Given the description of an element on the screen output the (x, y) to click on. 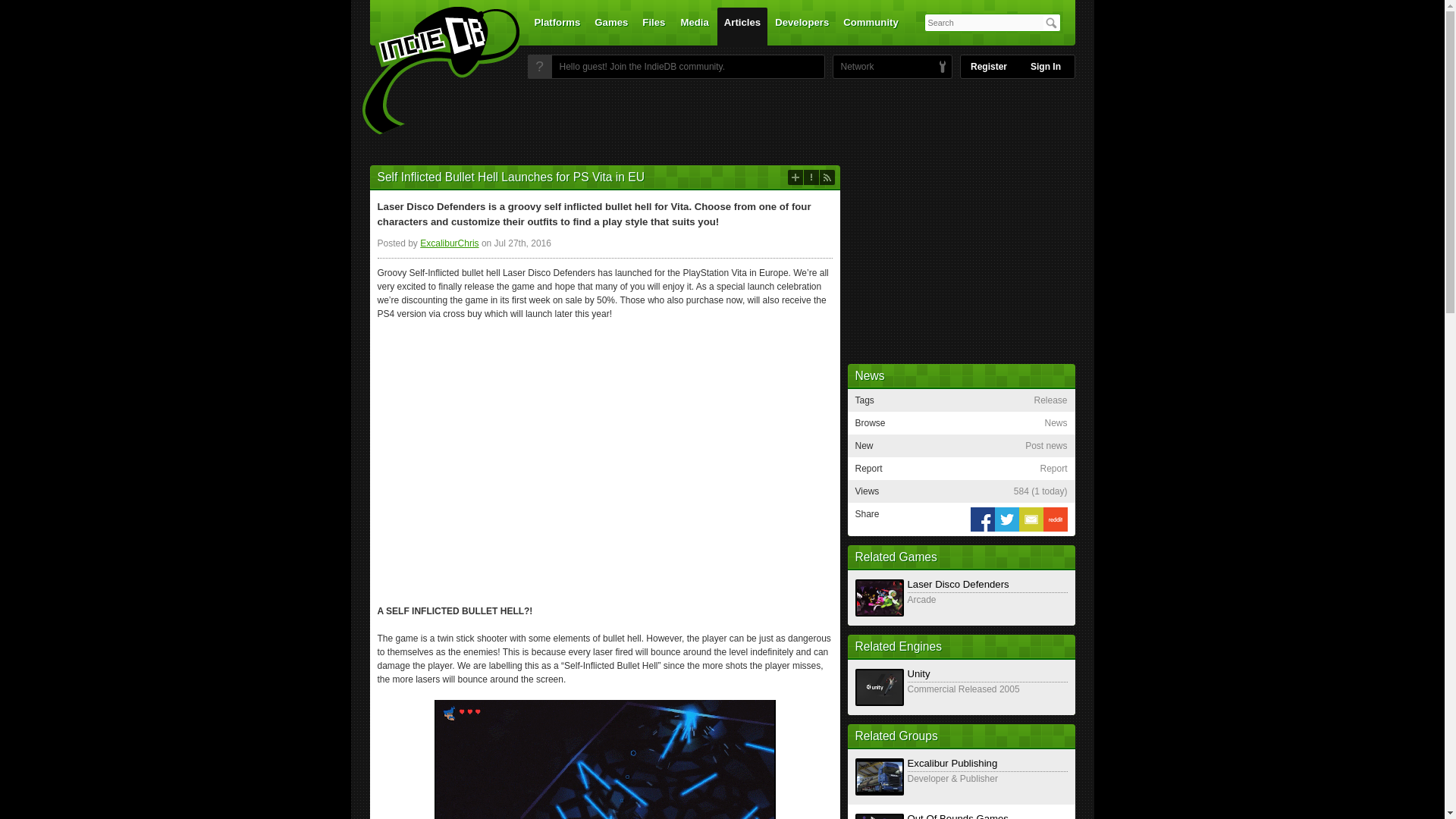
Post news (794, 177)
Report (810, 177)
Games (611, 26)
Platforms (557, 26)
Join IndieDB (539, 66)
Files (652, 26)
Search (1050, 22)
Articles (742, 26)
3rd party ad content (721, 121)
RSS (826, 177)
DBolical (852, 66)
Search IndieDB (1050, 22)
Developers (801, 26)
Community (870, 26)
Home (430, 70)
